Given the description of an element on the screen output the (x, y) to click on. 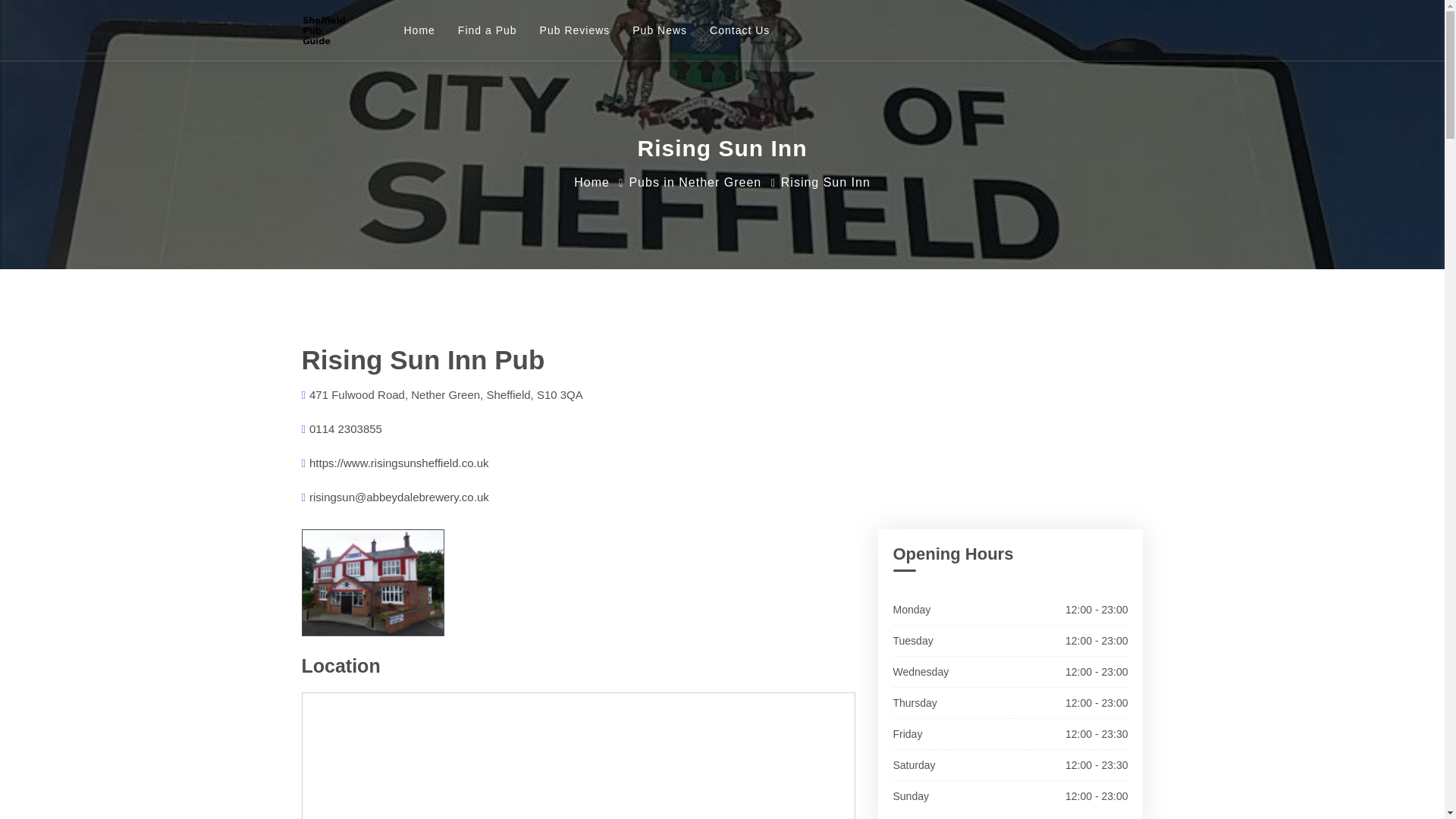
Pub News (659, 30)
Pubs in Nether Green (694, 182)
Home (591, 182)
Find a Pub (487, 30)
Pub Reviews (574, 30)
0114 2303855 (344, 428)
Contact Us (739, 30)
